Given the description of an element on the screen output the (x, y) to click on. 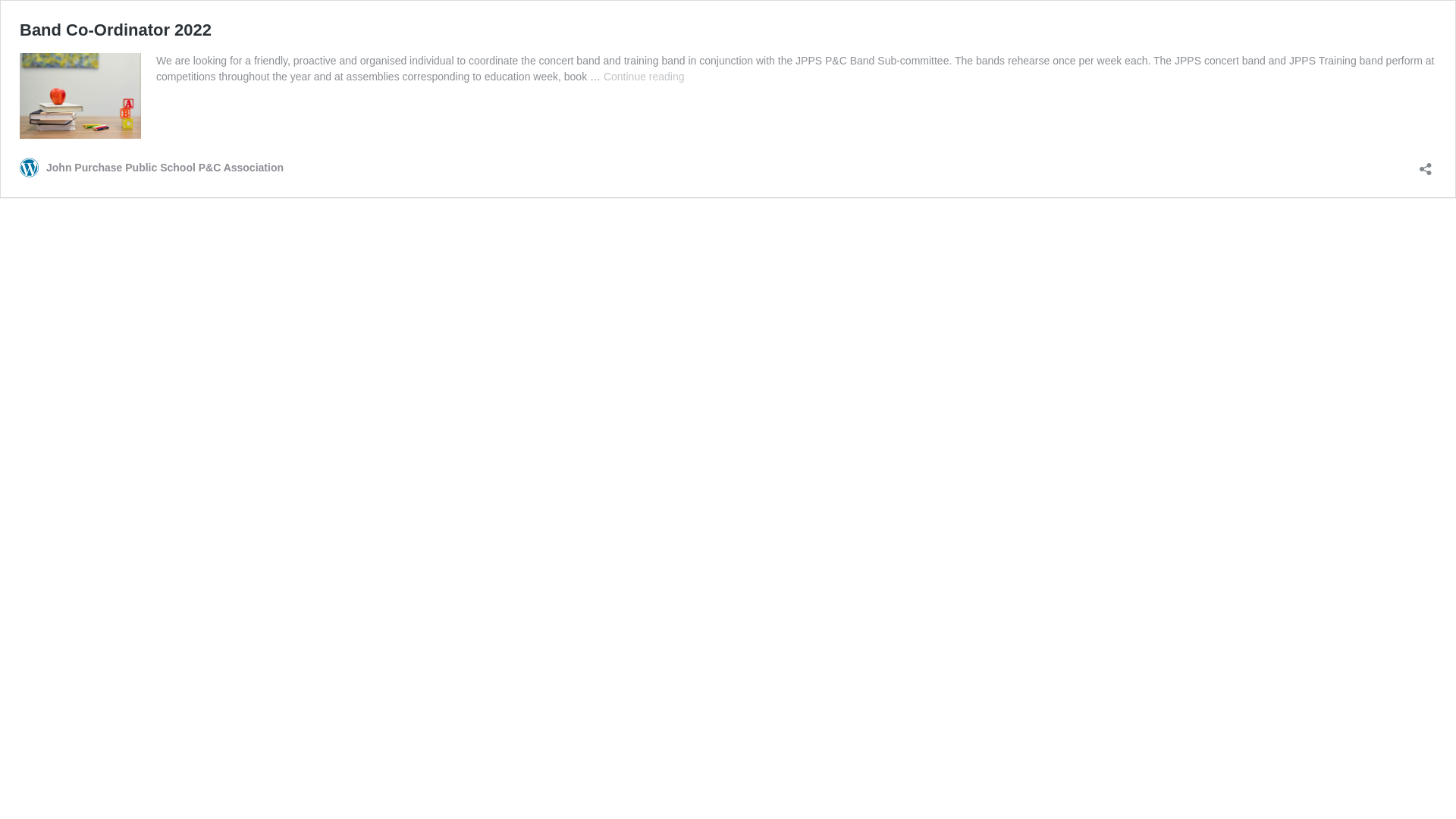
John Purchase Public School P&C Association Element type: text (151, 166)
Band Co-Ordinator 2022 Element type: text (115, 29)
Continue reading
Band Co-Ordinator 2022 Element type: text (643, 76)
